Given the description of an element on the screen output the (x, y) to click on. 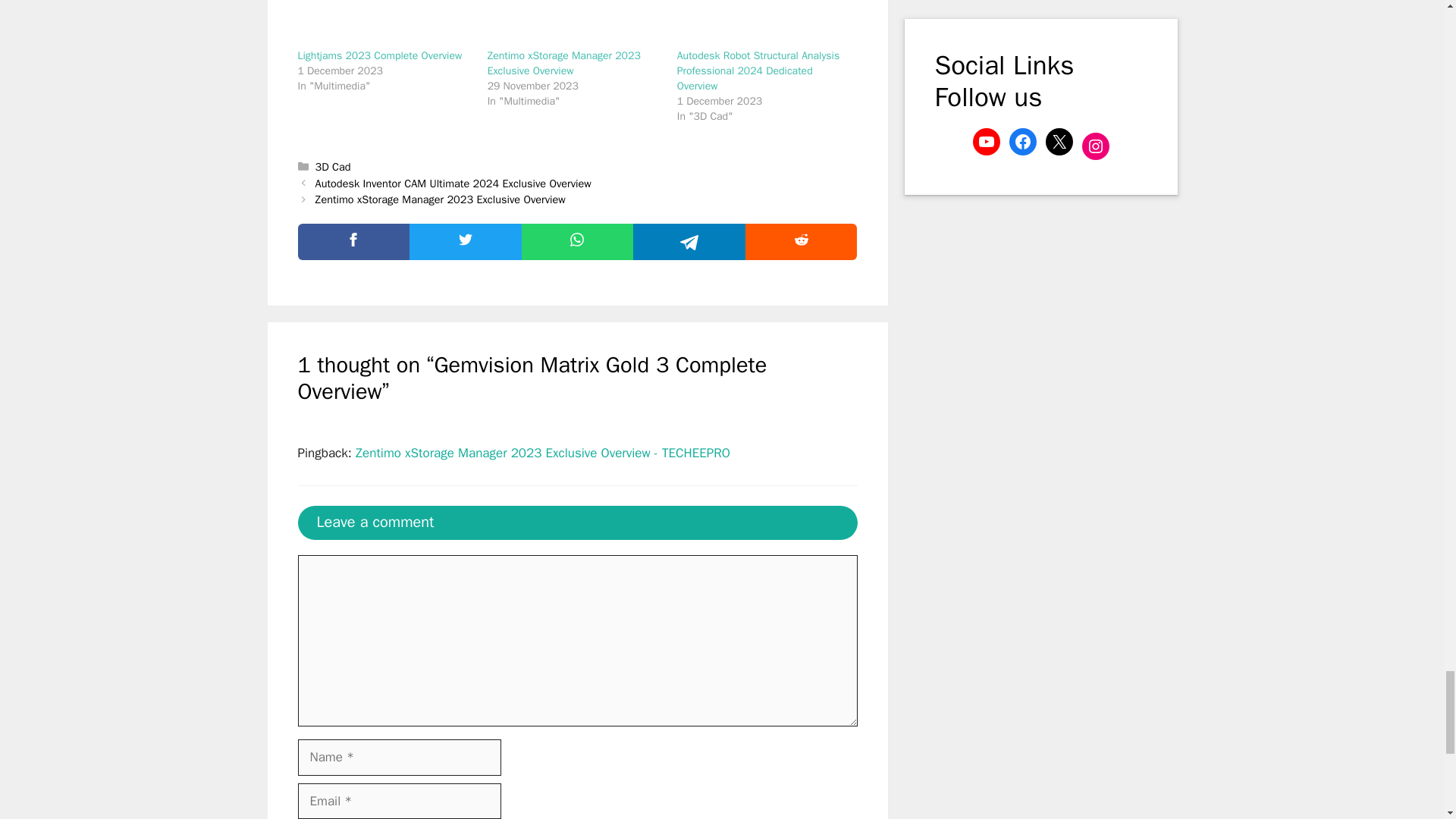
Zentimo xStorage Manager 2023 Exclusive Overview (563, 62)
3D Cad (332, 166)
Zentimo xStorage Manager 2023 Exclusive Overview (574, 24)
Zentimo xStorage Manager 2023 Exclusive Overview (563, 62)
Lightjams 2023 Complete Overview (379, 55)
Lightjams 2023 Complete Overview (379, 55)
Lightjams 2023 Complete Overview (384, 24)
Autodesk Inventor CAM Ultimate 2024 Exclusive Overview (453, 183)
